Given the description of an element on the screen output the (x, y) to click on. 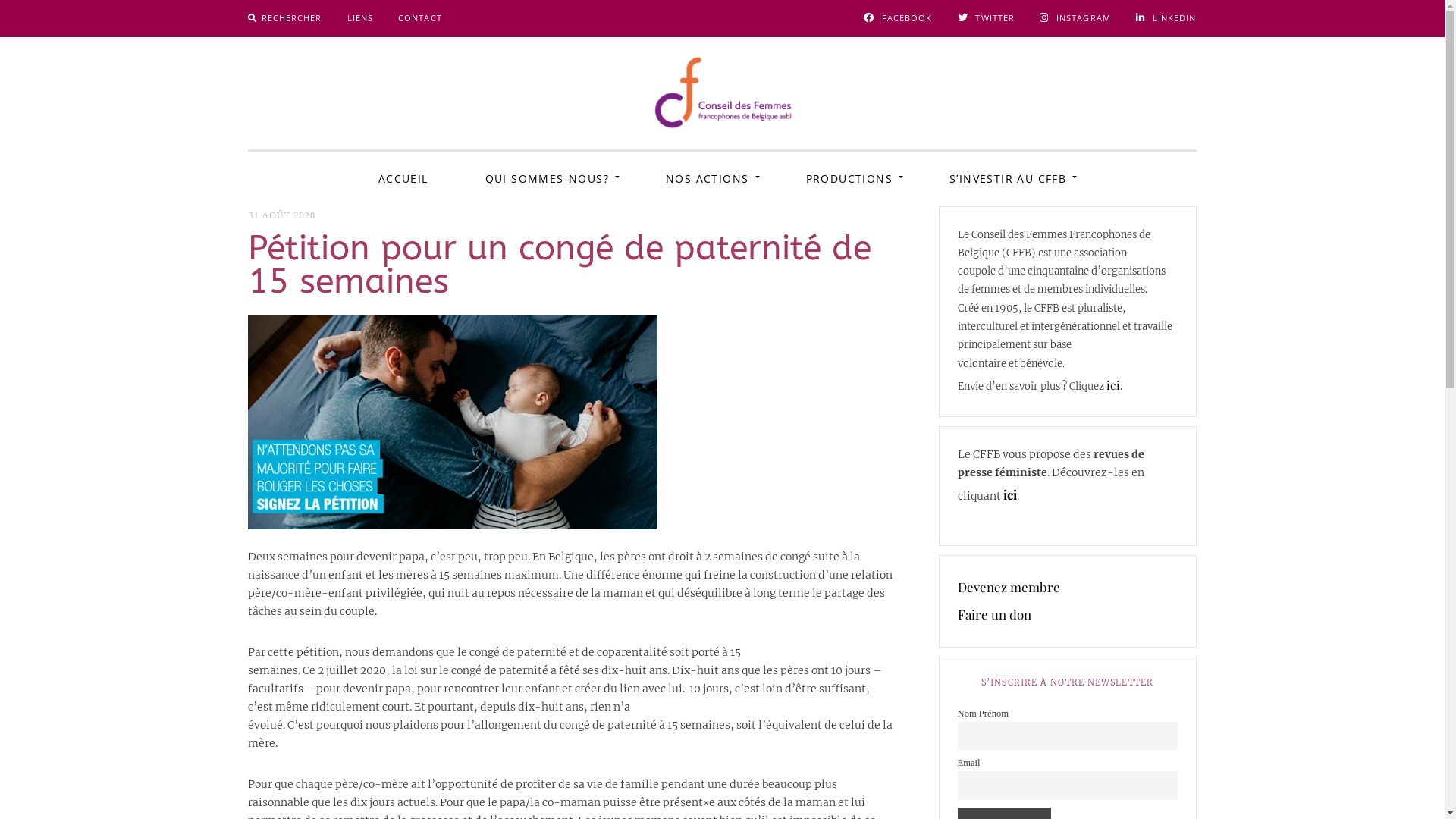
RECHERCHER Element type: text (284, 18)
ici Element type: text (1009, 494)
ACCUEIL Element type: text (403, 178)
Faire un don Element type: text (994, 614)
PRODUCTIONS Element type: text (848, 178)
CONTACT Element type: text (419, 18)
INSTAGRAM Element type: text (1075, 18)
LIENS Element type: text (360, 18)
QUI SOMMES-NOUS? Element type: text (547, 178)
ici Element type: text (1113, 385)
FACEBOOK Element type: text (898, 18)
Devenez membre Element type: text (1008, 587)
CFFB Element type: text (771, 172)
NOS ACTIONS Element type: text (706, 178)
Rechercher Element type: text (39, 16)
TWITTER Element type: text (986, 18)
LINKEDIN Element type: text (1166, 18)
